Given the description of an element on the screen output the (x, y) to click on. 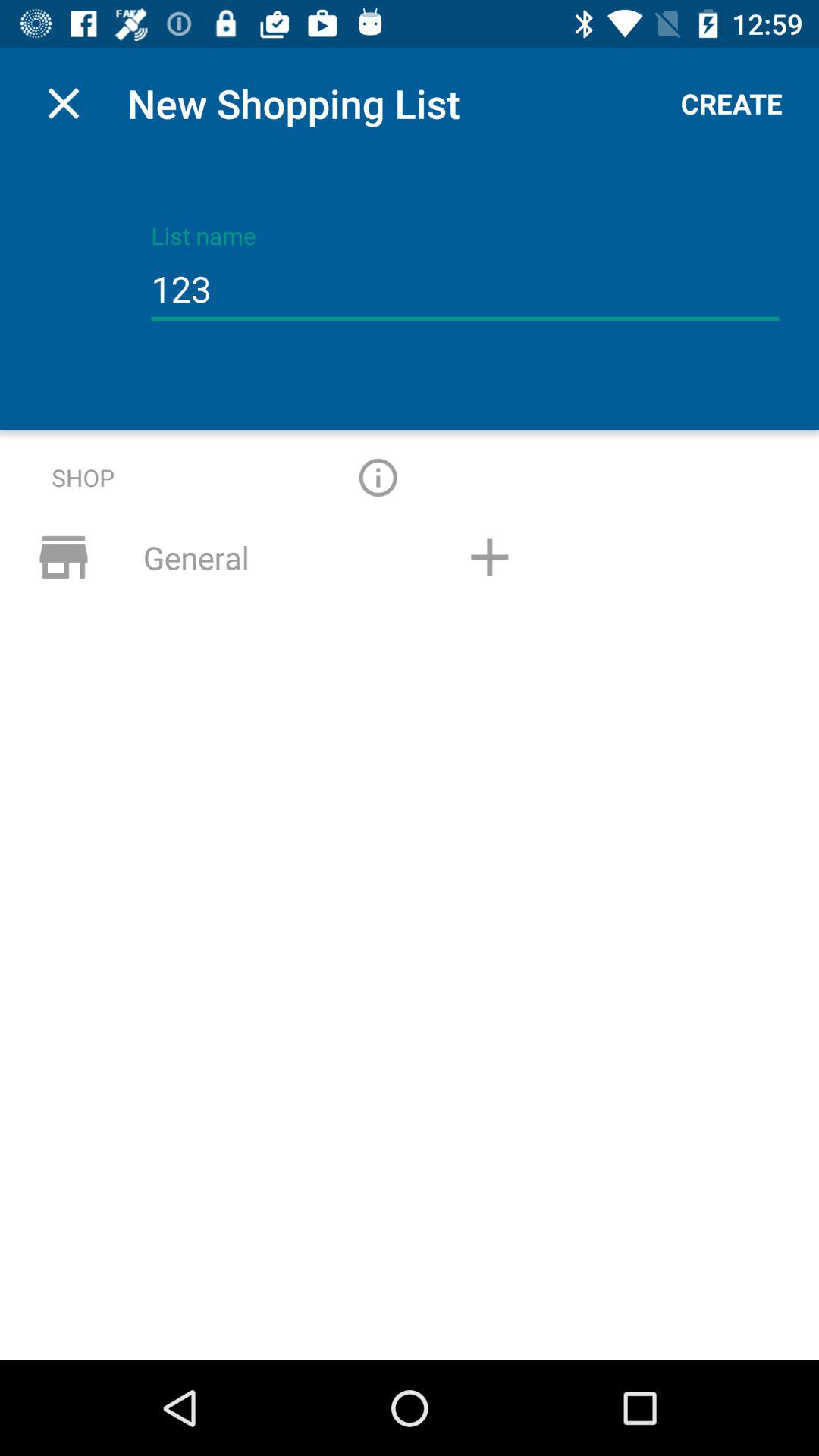
start (377, 477)
